Given the description of an element on the screen output the (x, y) to click on. 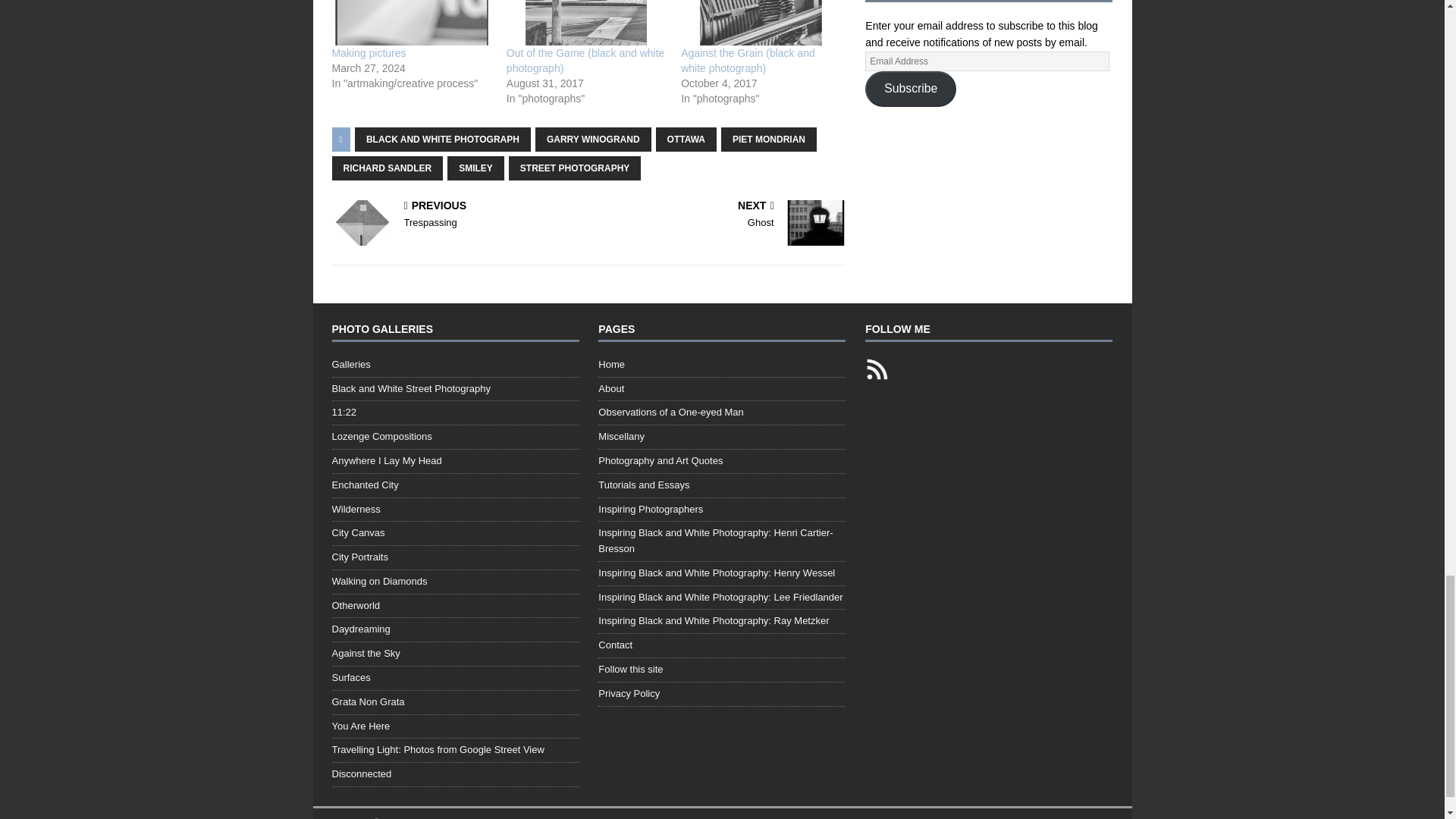
Making pictures (368, 52)
Making pictures (411, 22)
